Given the description of an element on the screen output the (x, y) to click on. 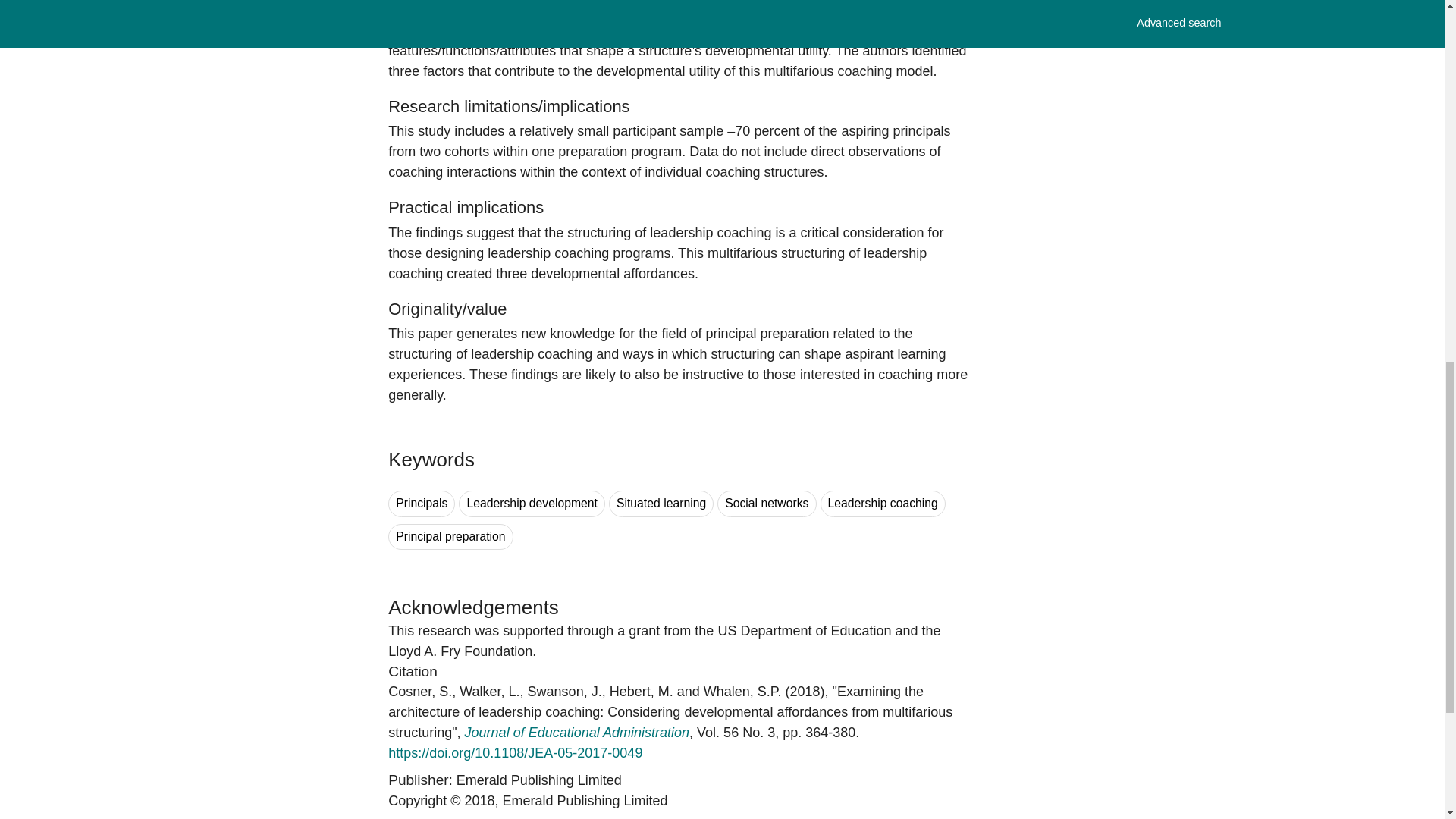
Martha Hebert (641, 691)
Search for keyword Principals (421, 503)
Swanson, J. (564, 691)
Whalen, S.P. (742, 691)
Principals (421, 503)
Search for keyword Situated learning (660, 503)
Leadership development (531, 503)
Leadership coaching (882, 503)
Cosner, S. (419, 691)
Lisa Walker (489, 691)
Principal preparation (450, 537)
Walker, L. (489, 691)
Search for keyword Principal preparation (450, 537)
Shelby Cosner (419, 691)
Search for keyword Leadership coaching (882, 503)
